Given the description of an element on the screen output the (x, y) to click on. 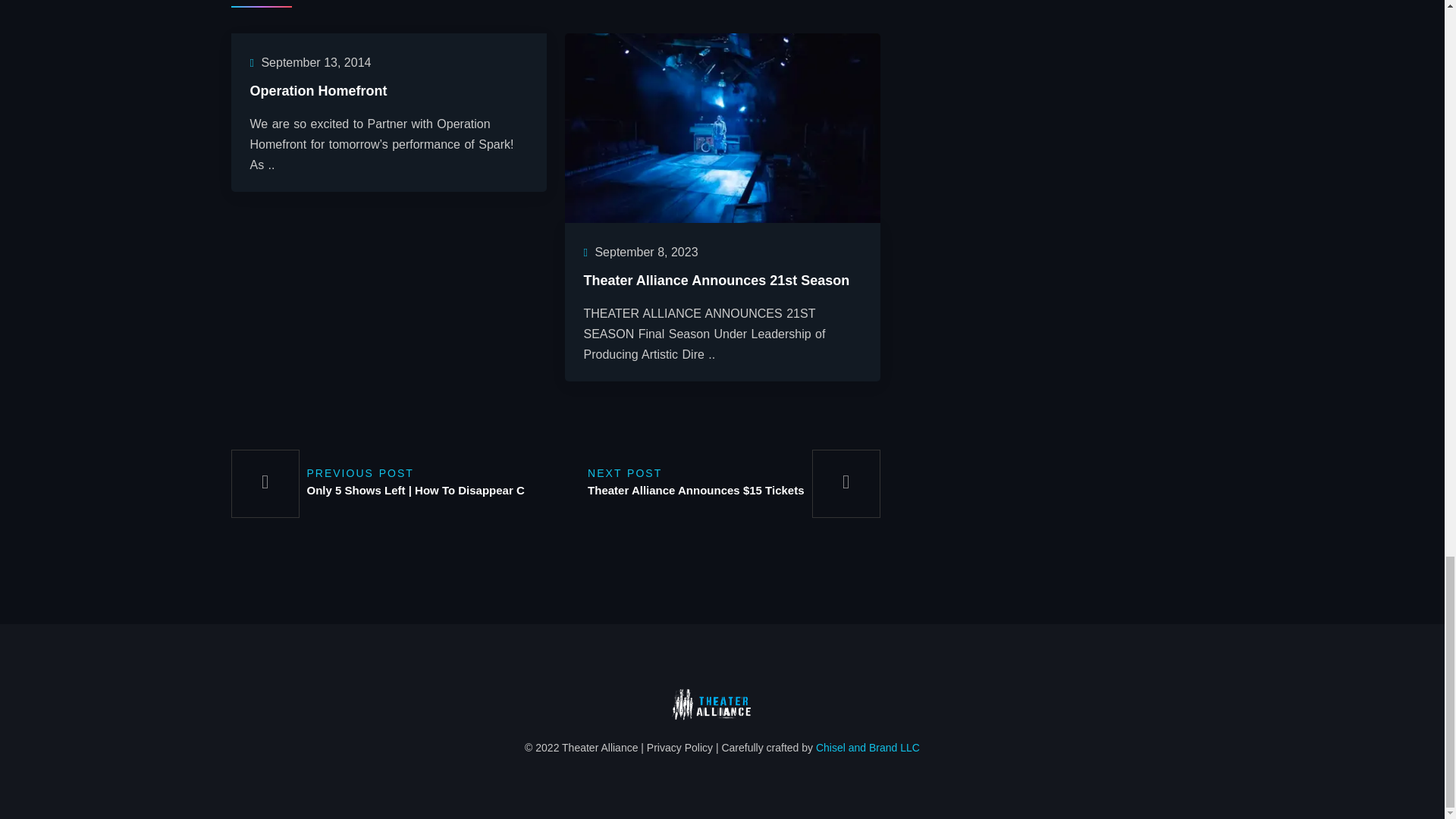
Theater Alliance Announces 21st Season (721, 126)
